Given the description of an element on the screen output the (x, y) to click on. 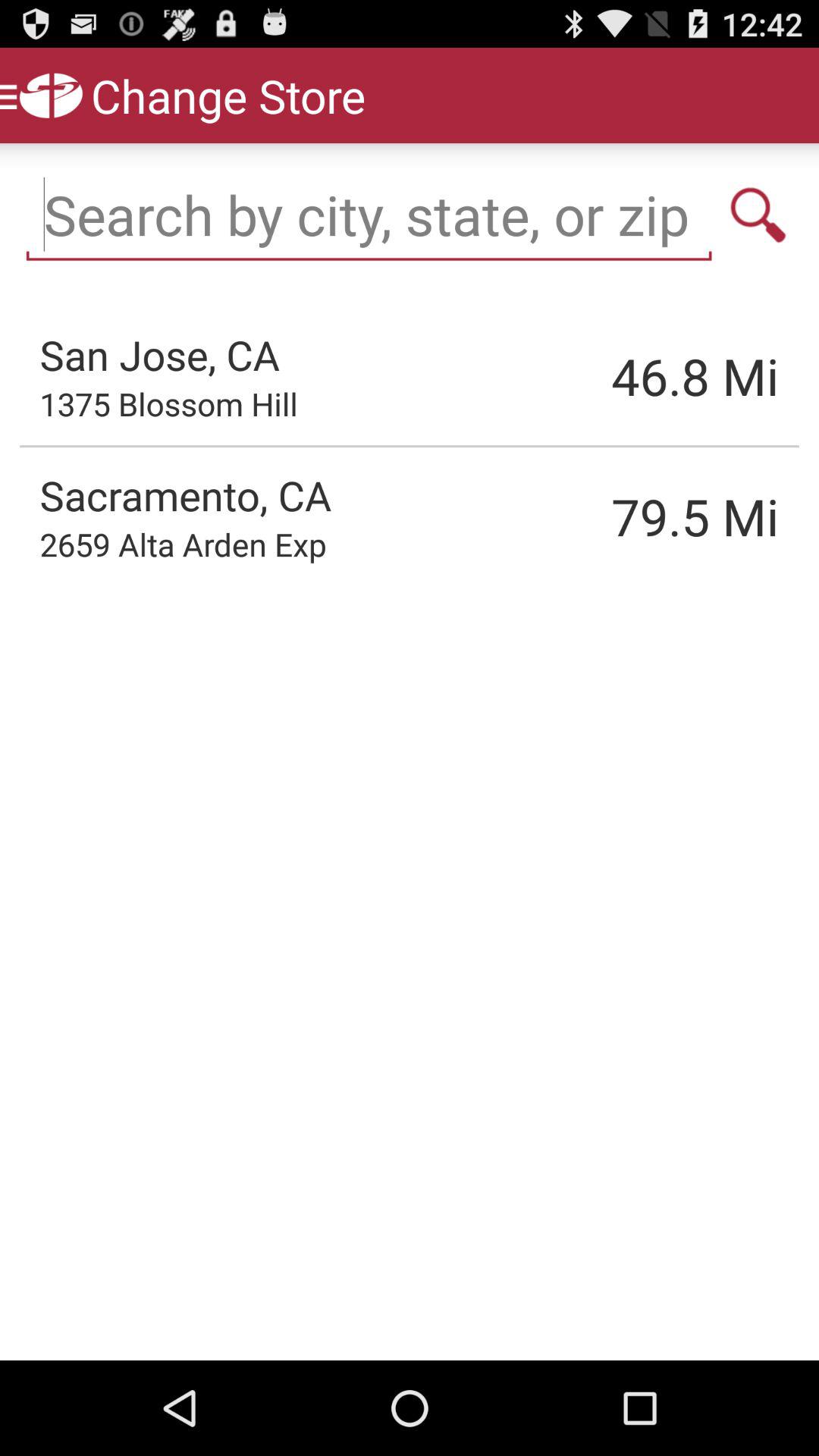
search city state or zip (758, 215)
